Given the description of an element on the screen output the (x, y) to click on. 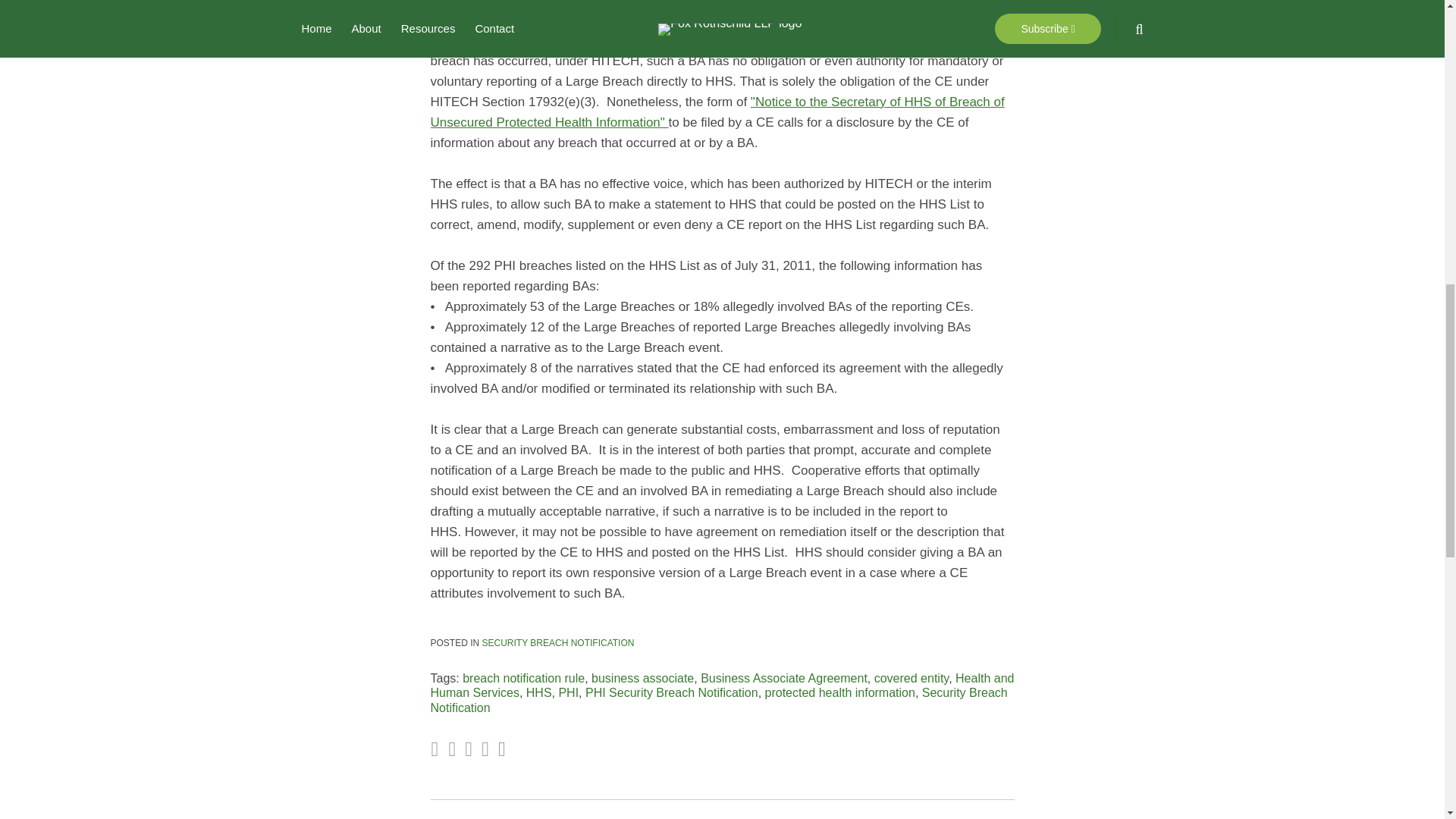
PHI (567, 692)
covered entity (912, 677)
PHI Security Breach Notification (671, 692)
protected health information (840, 692)
SECURITY BREACH NOTIFICATION (557, 643)
breach notification rule (524, 677)
Business Associate Agreement (783, 677)
Health and Human Services (722, 685)
Security Breach Notification (718, 699)
